Given the description of an element on the screen output the (x, y) to click on. 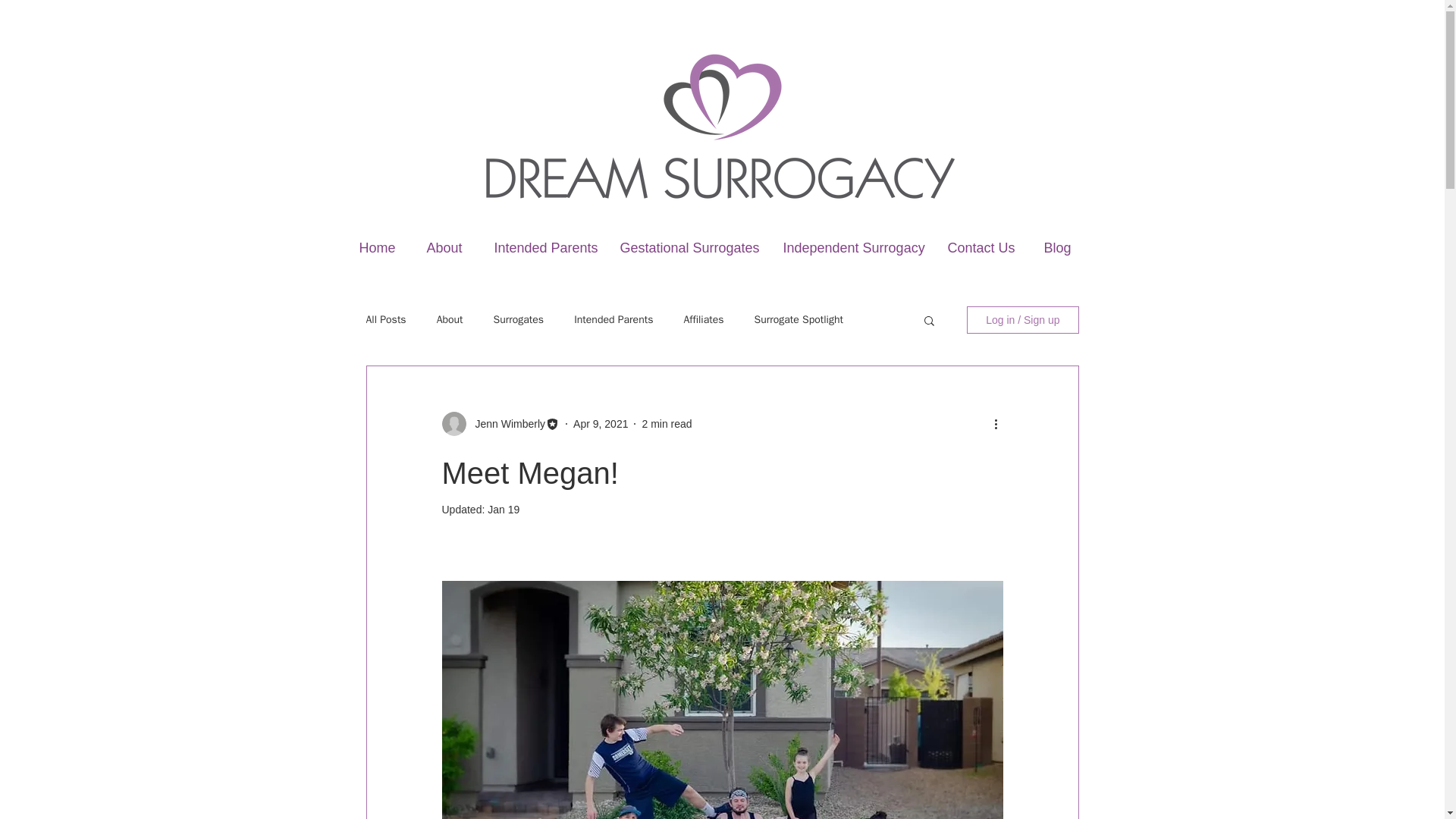
Apr 9, 2021 (600, 422)
Surrogate Spotlight (798, 319)
Gestational Surrogates (689, 247)
Contact Us (984, 247)
Surrogates (518, 319)
All Posts (385, 319)
About (449, 319)
Independent Surrogacy (853, 247)
Intended Parents (612, 319)
About (448, 247)
Intended Parents (544, 247)
Blog (1061, 247)
Affiliates (702, 319)
Jenn Wimberly (504, 423)
Home (380, 247)
